Given the description of an element on the screen output the (x, y) to click on. 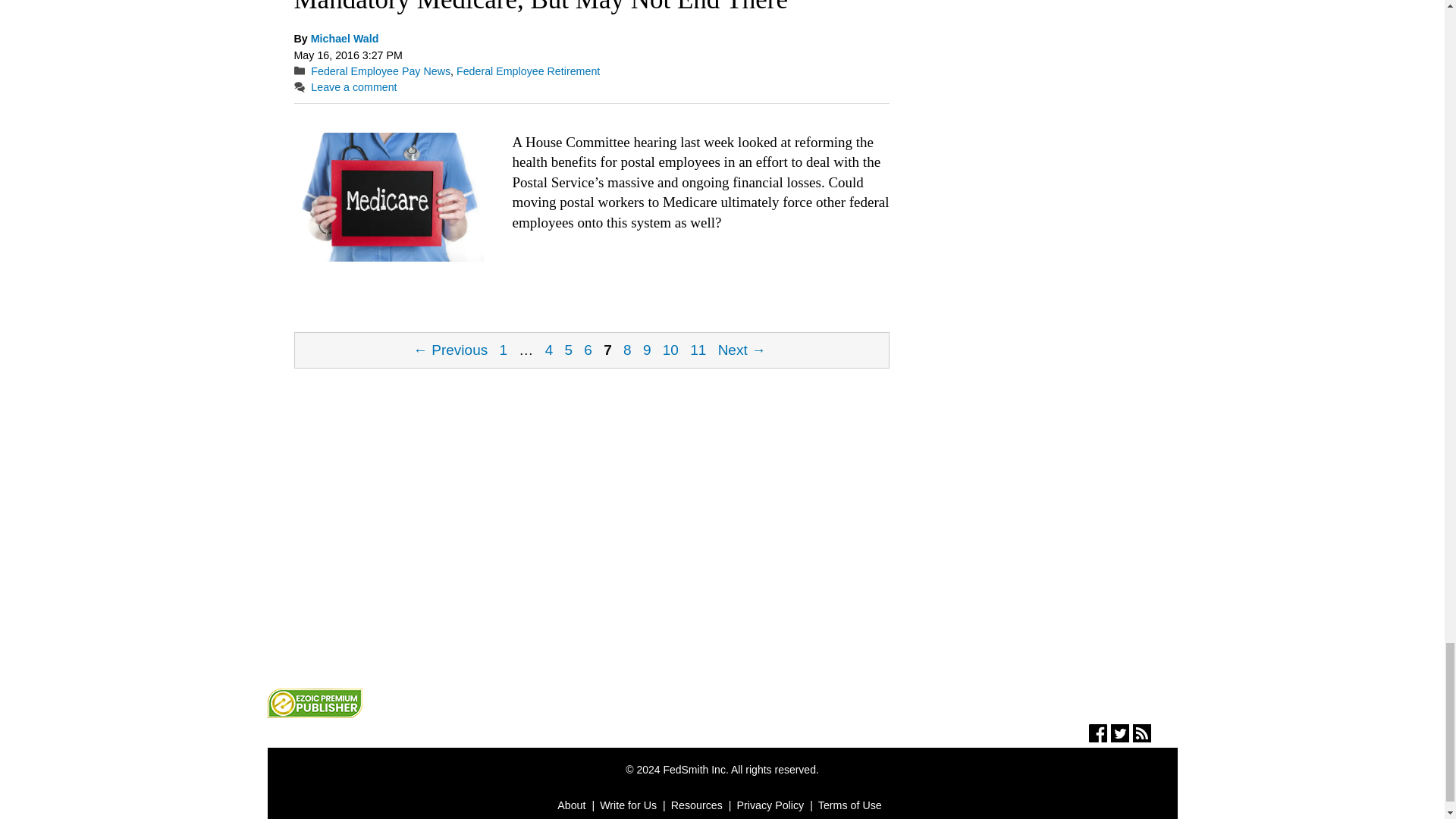
View all articles by Michael Wald (344, 38)
